Given the description of an element on the screen output the (x, y) to click on. 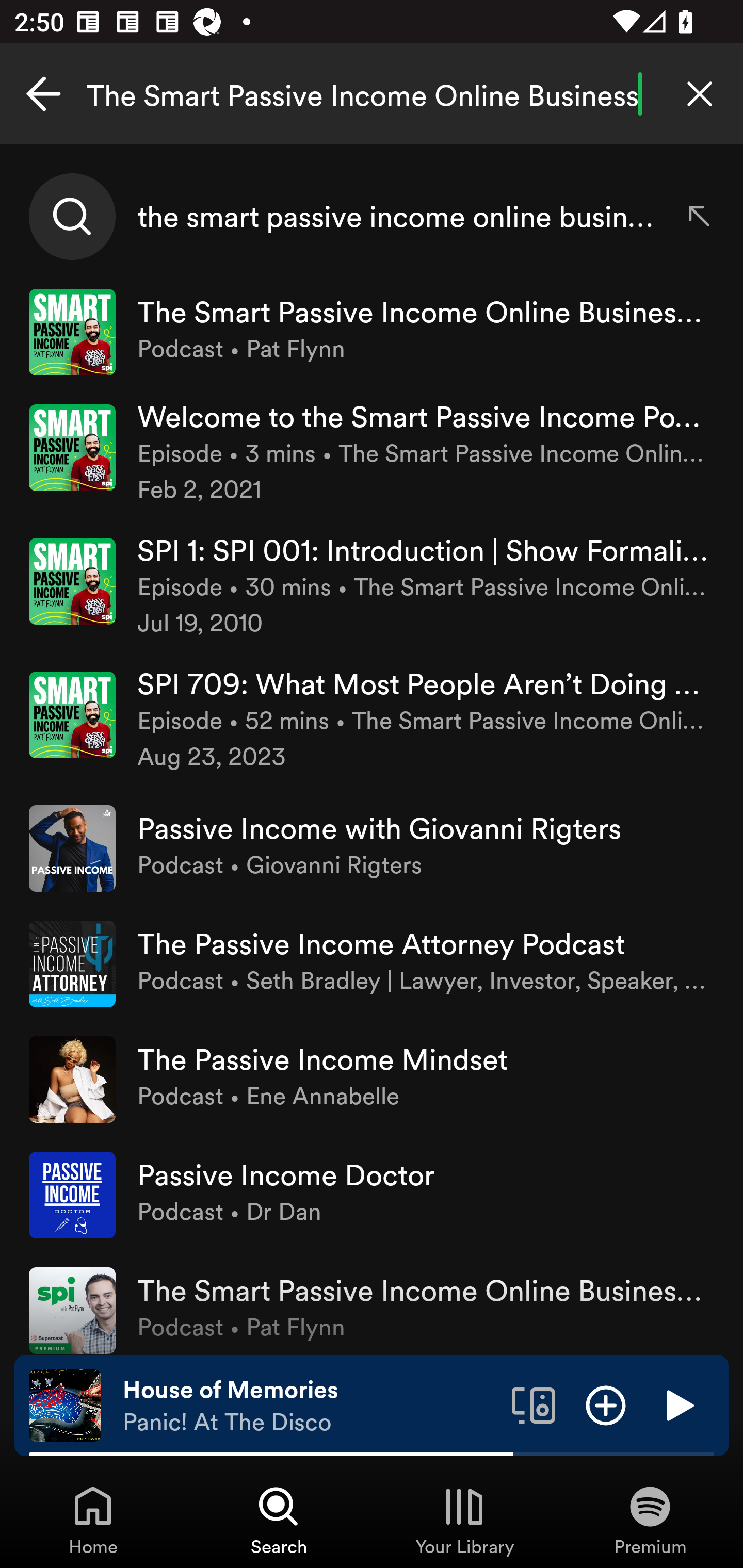
The Smart Passive Income Online Business (371, 93)
Cancel (43, 93)
Clear search query (699, 93)
The Passive Income Mindset Podcast • Ene Annabelle (371, 1079)
Passive Income Doctor Podcast • Dr Dan (371, 1194)
House of Memories Panic! At The Disco (309, 1405)
The cover art of the currently playing track (64, 1404)
Connect to a device. Opens the devices menu (533, 1404)
Add item (605, 1404)
Play (677, 1404)
Home, Tab 1 of 4 Home Home (92, 1519)
Search, Tab 2 of 4 Search Search (278, 1519)
Your Library, Tab 3 of 4 Your Library Your Library (464, 1519)
Premium, Tab 4 of 4 Premium Premium (650, 1519)
